Given the description of an element on the screen output the (x, y) to click on. 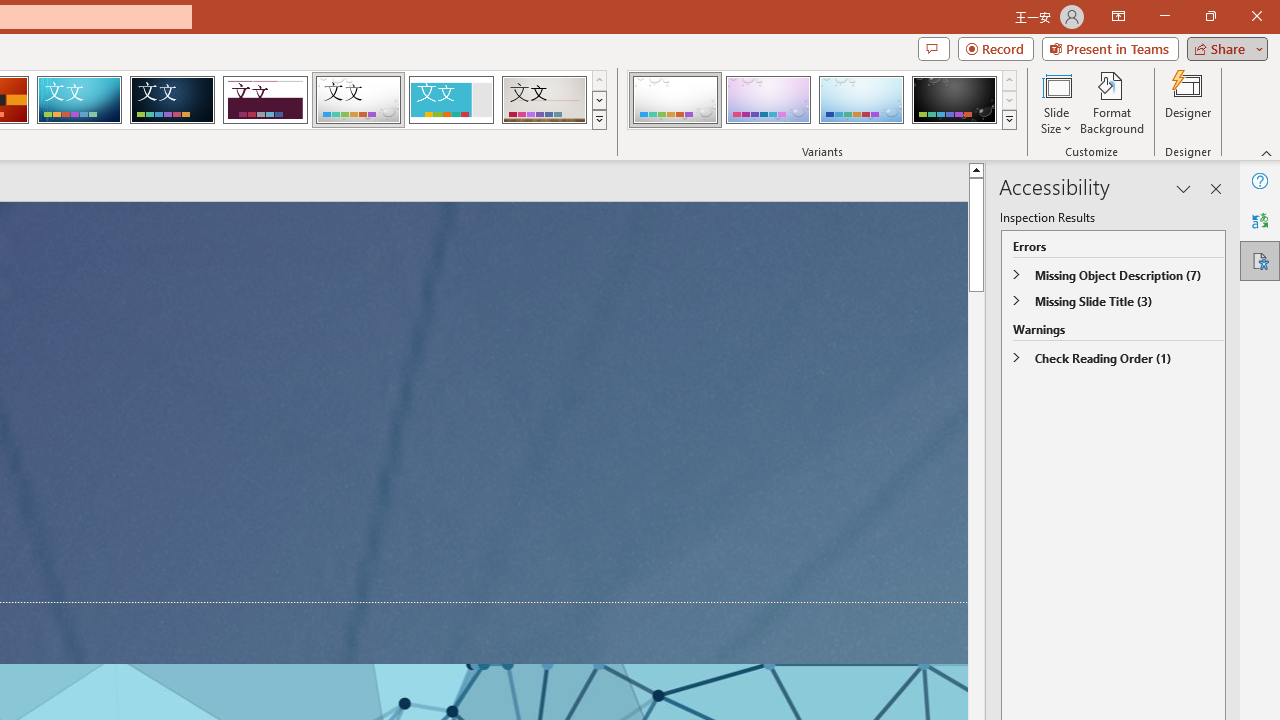
Droplet Variant 4 (953, 100)
AutomationID: ThemeVariantsGallery (822, 99)
Gallery (544, 100)
Slide Size (1056, 102)
Variants (1009, 120)
Format Background (1111, 102)
Droplet Variant 3 (861, 100)
Droplet Variant 1 (674, 100)
Themes (598, 120)
